Given the description of an element on the screen output the (x, y) to click on. 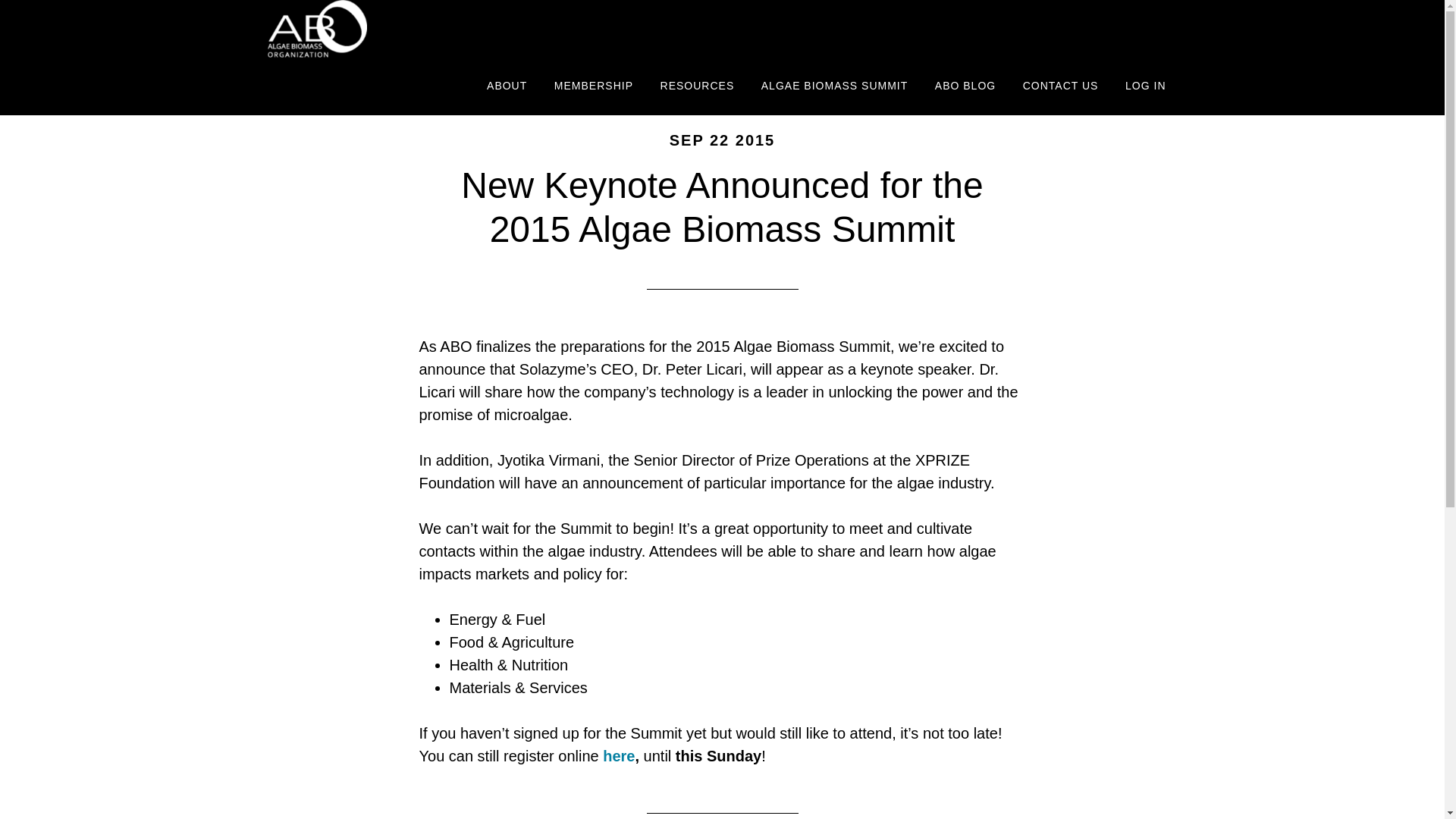
LOG IN (1144, 86)
ALGAE BIOMASS SUMMIT (833, 86)
ABO BLOG (965, 86)
ABOUT (507, 86)
here (618, 755)
MEMBERSHIP (594, 86)
CONTACT US (1060, 86)
RESOURCES (697, 86)
ALGAE BIOMASS ORGANIZATION (403, 28)
